Given the description of an element on the screen output the (x, y) to click on. 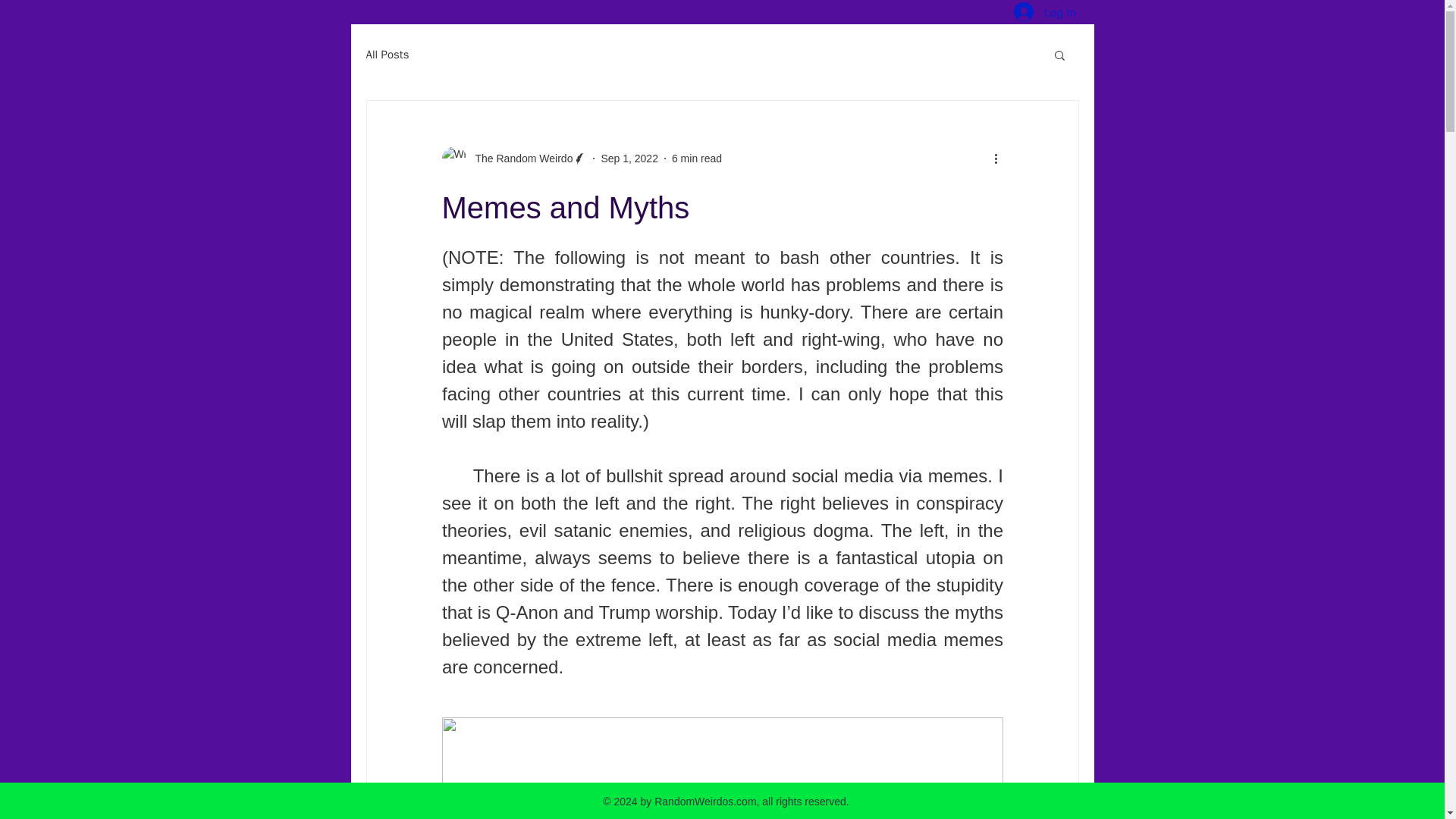
The Random Weirdo (518, 157)
All Posts (387, 53)
The Random Weirdo (513, 158)
Sep 1, 2022 (628, 157)
Log In (1044, 13)
6 min read (696, 157)
